Given the description of an element on the screen output the (x, y) to click on. 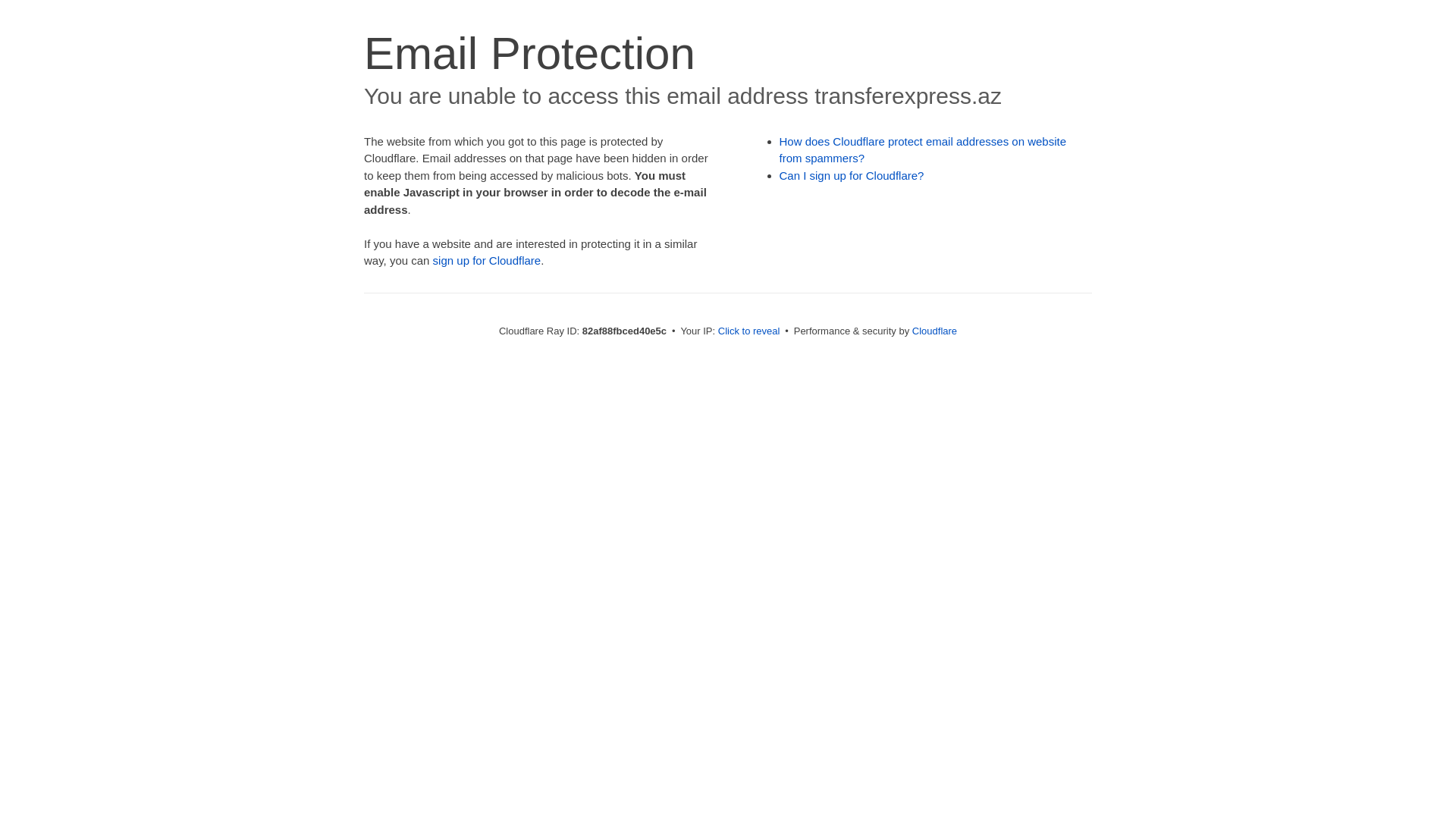
Cloudflare Element type: text (934, 330)
Click to reveal Element type: text (749, 330)
Can I sign up for Cloudflare? Element type: text (851, 175)
sign up for Cloudflare Element type: text (487, 260)
